Given the description of an element on the screen output the (x, y) to click on. 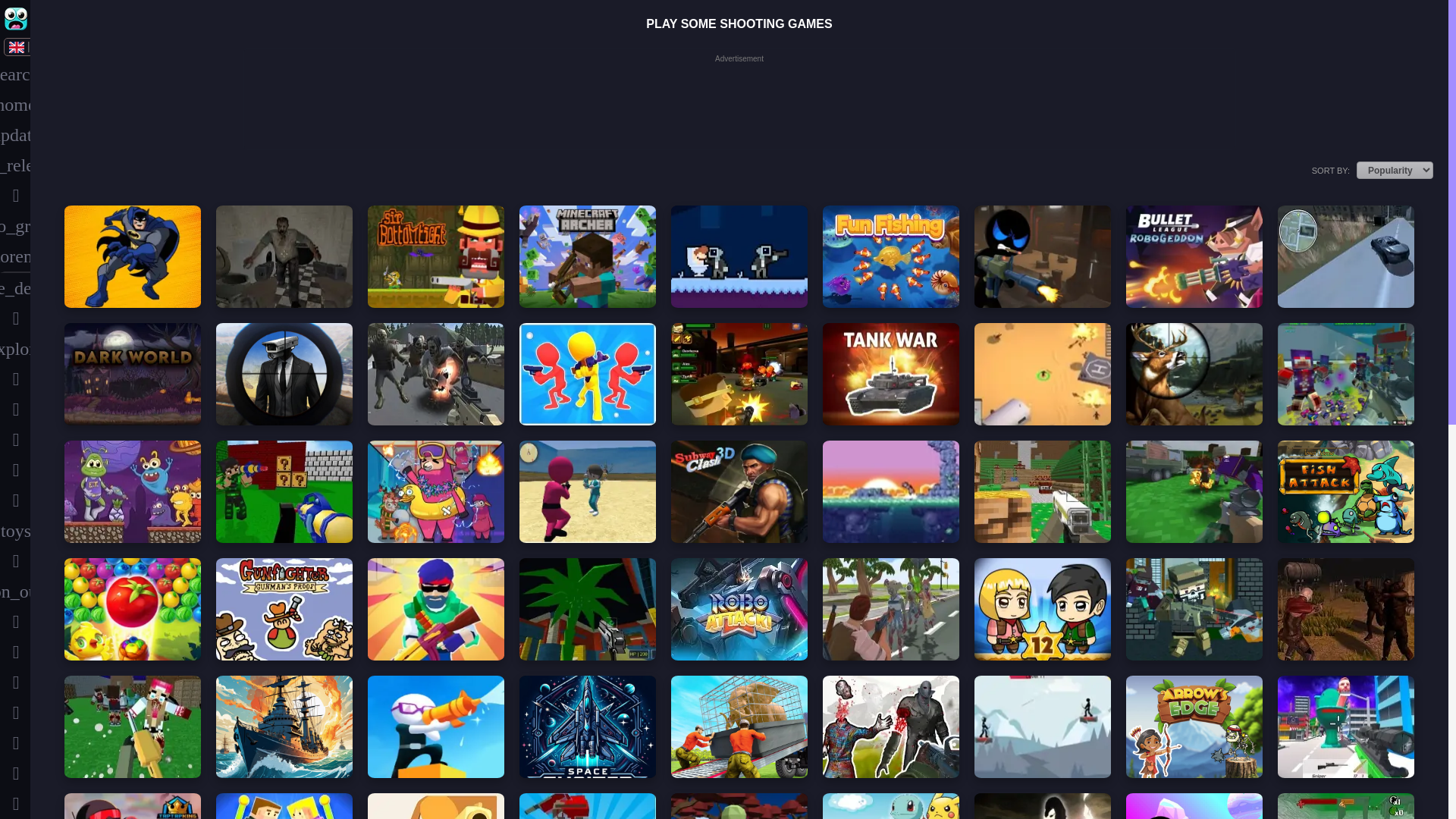
search (15, 73)
update (15, 134)
home (15, 104)
explore (15, 348)
toys (15, 530)
Advertisement (738, 98)
autorenew (15, 256)
